Given the description of an element on the screen output the (x, y) to click on. 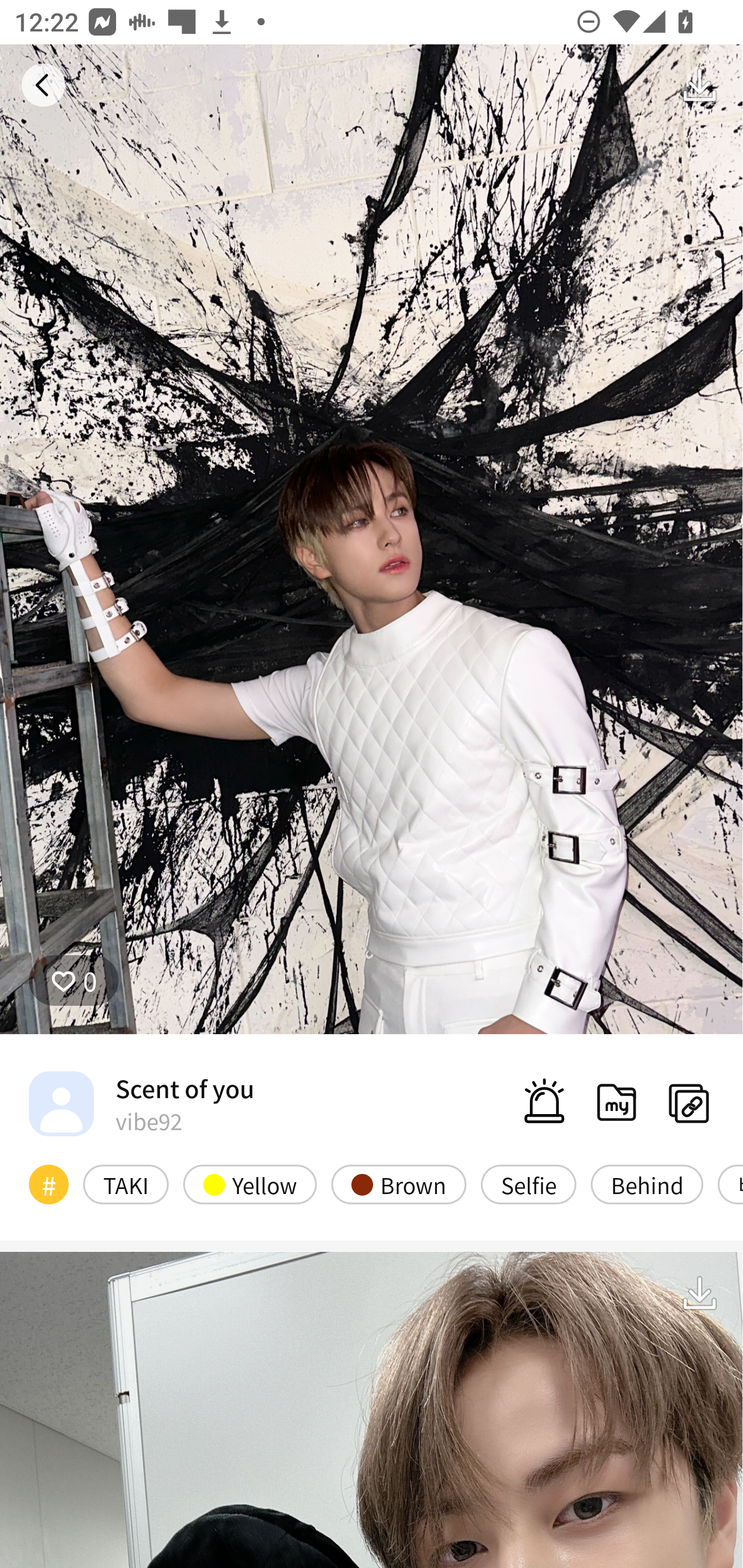
0 (73, 980)
Scent of you vibe92 (141, 1102)
TAKI (125, 1184)
Yellow (249, 1184)
Brown (398, 1184)
Selfie (528, 1184)
Behind (646, 1184)
